Given the description of an element on the screen output the (x, y) to click on. 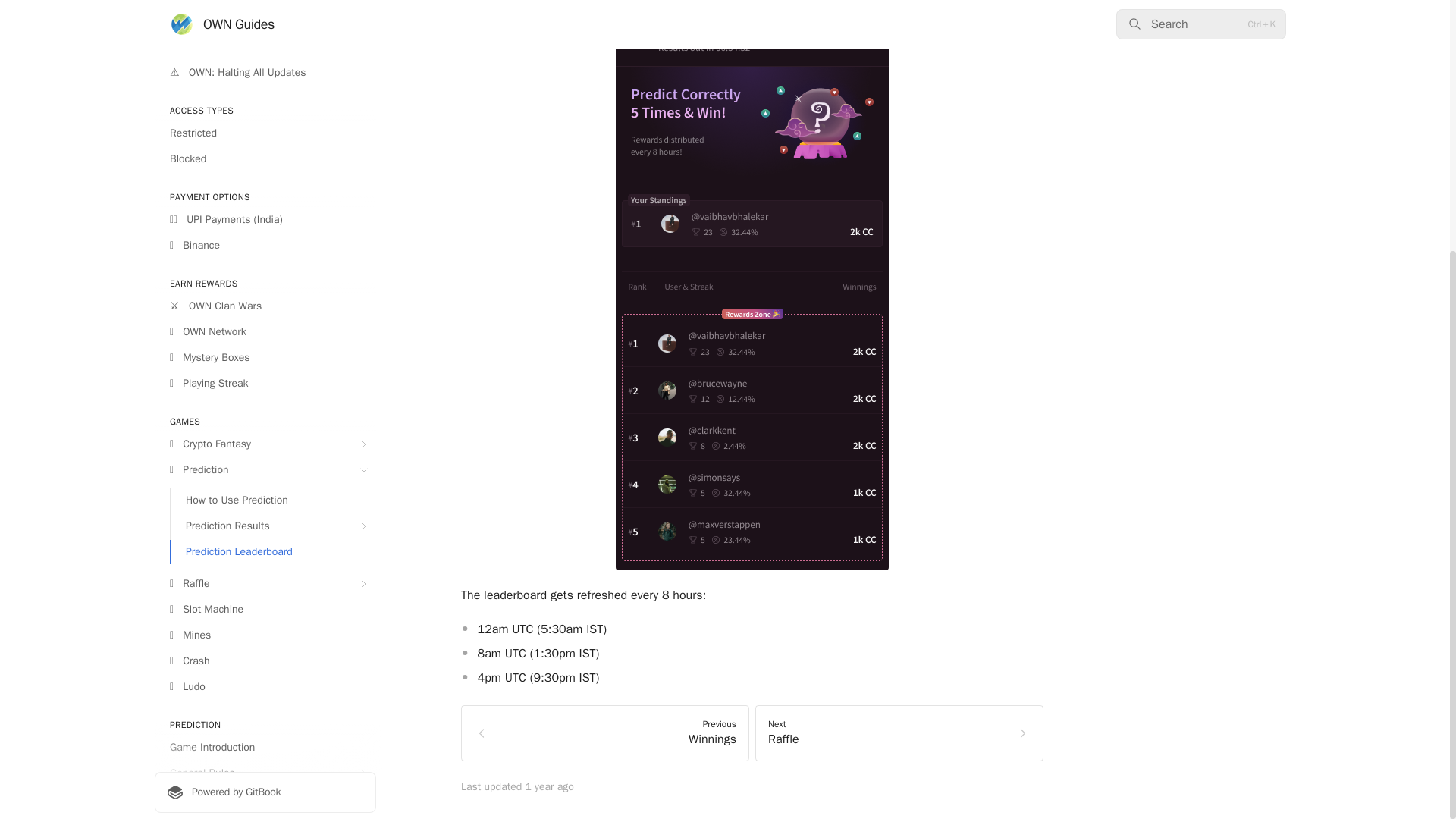
Prediction Leaderboard (272, 190)
How to Use Prediction (272, 138)
Rewards (264, 437)
Game Introduction (264, 385)
Prediction Results (272, 164)
General Rules (264, 411)
